Given the description of an element on the screen output the (x, y) to click on. 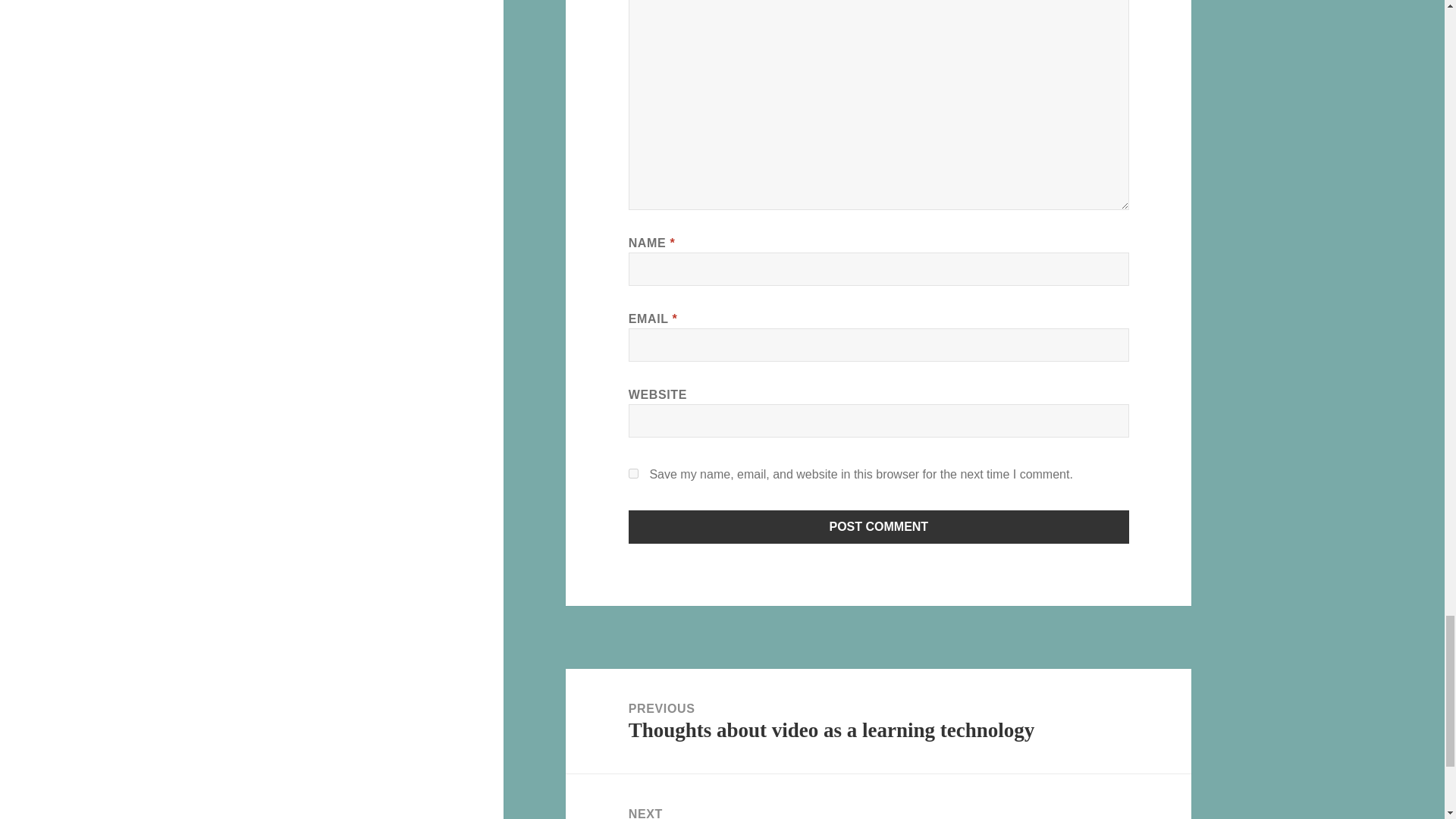
Post Comment (878, 796)
Post Comment (878, 526)
yes (878, 526)
